Given the description of an element on the screen output the (x, y) to click on. 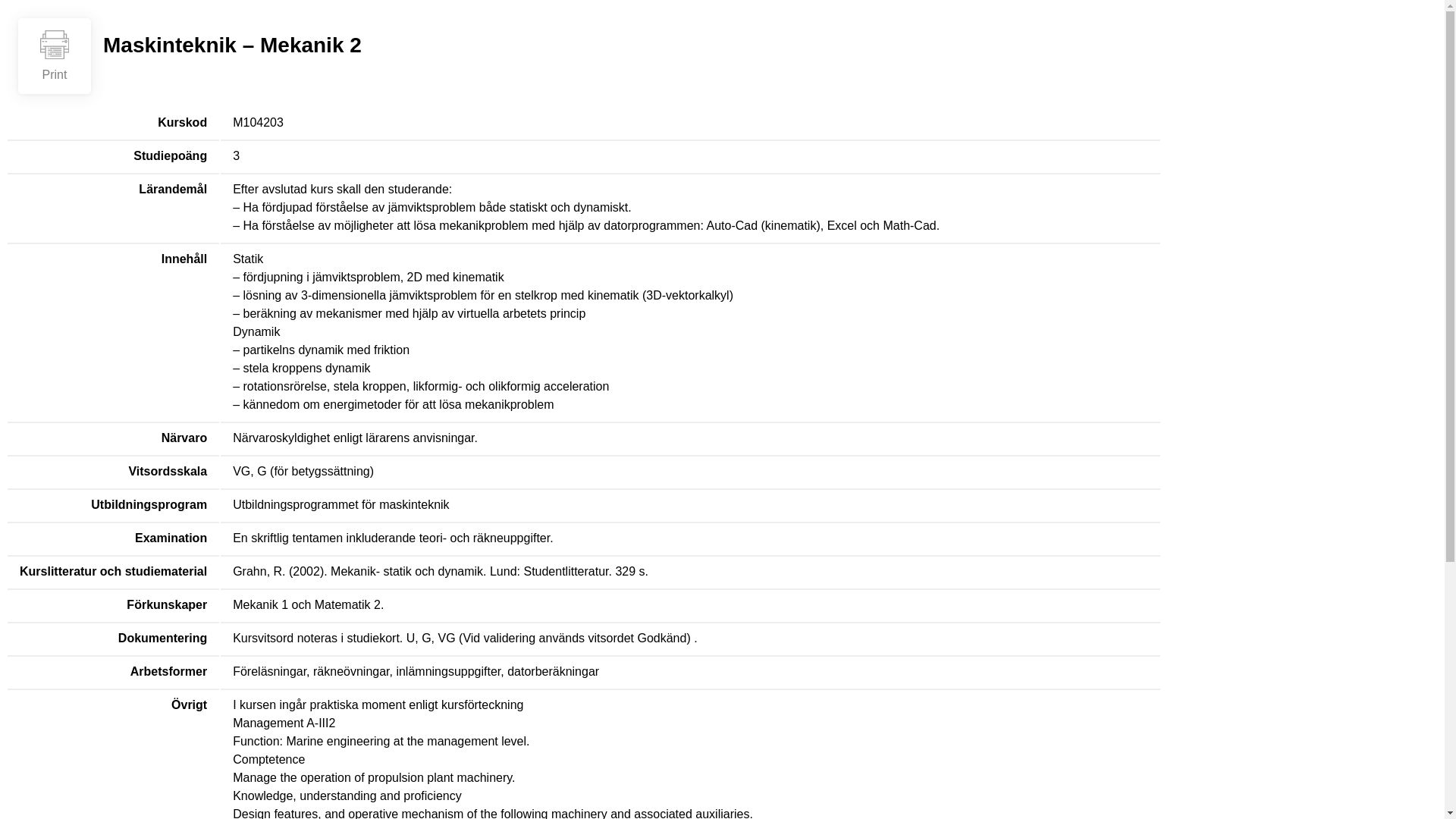
Print Element type: text (54, 56)
